Given the description of an element on the screen output the (x, y) to click on. 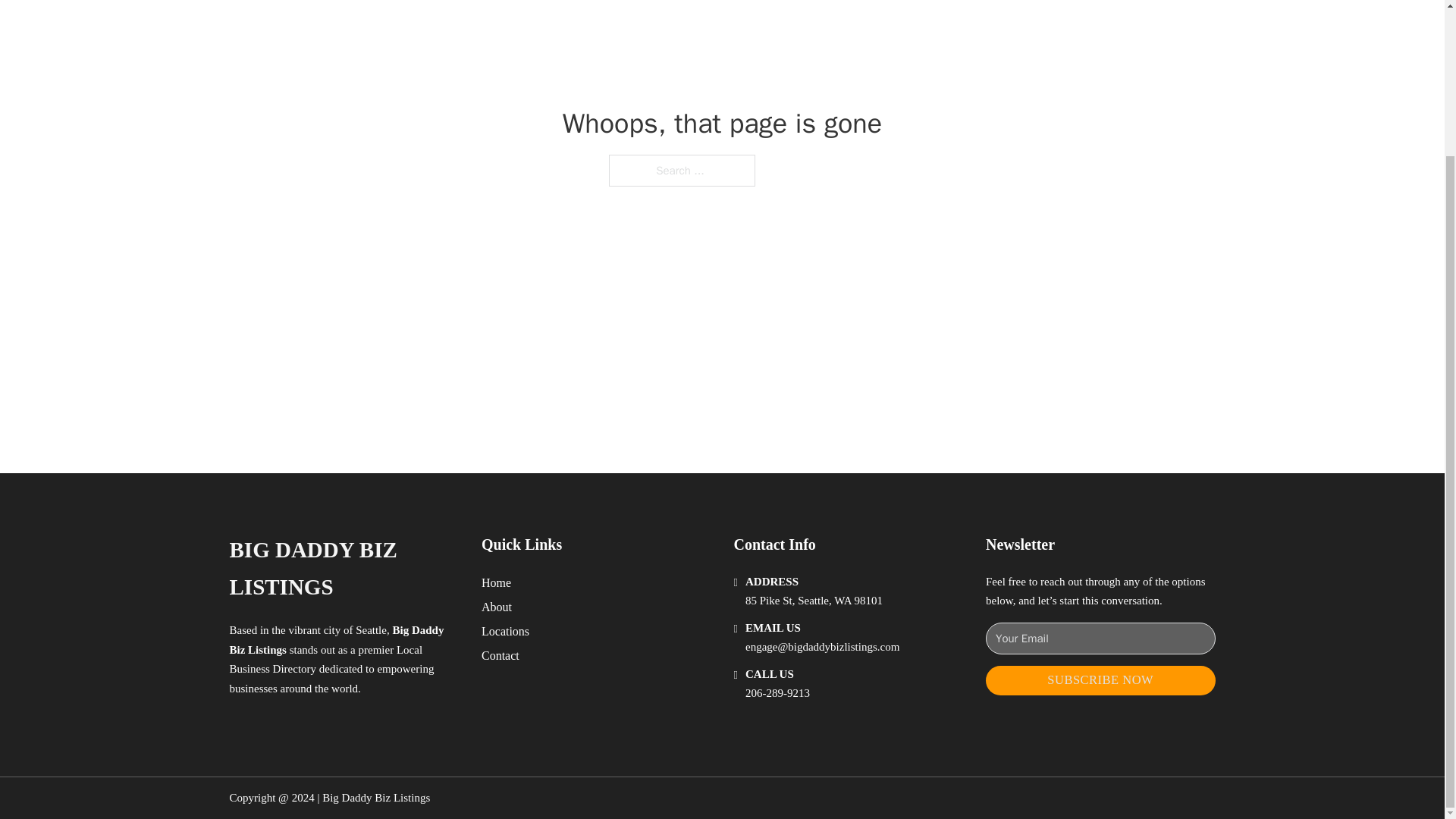
About (496, 607)
Locations (505, 630)
Contact (500, 655)
Home (496, 582)
BIG DADDY BIZ LISTINGS (343, 568)
206-289-9213 (777, 693)
SUBSCRIBE NOW (1100, 680)
